Given the description of an element on the screen output the (x, y) to click on. 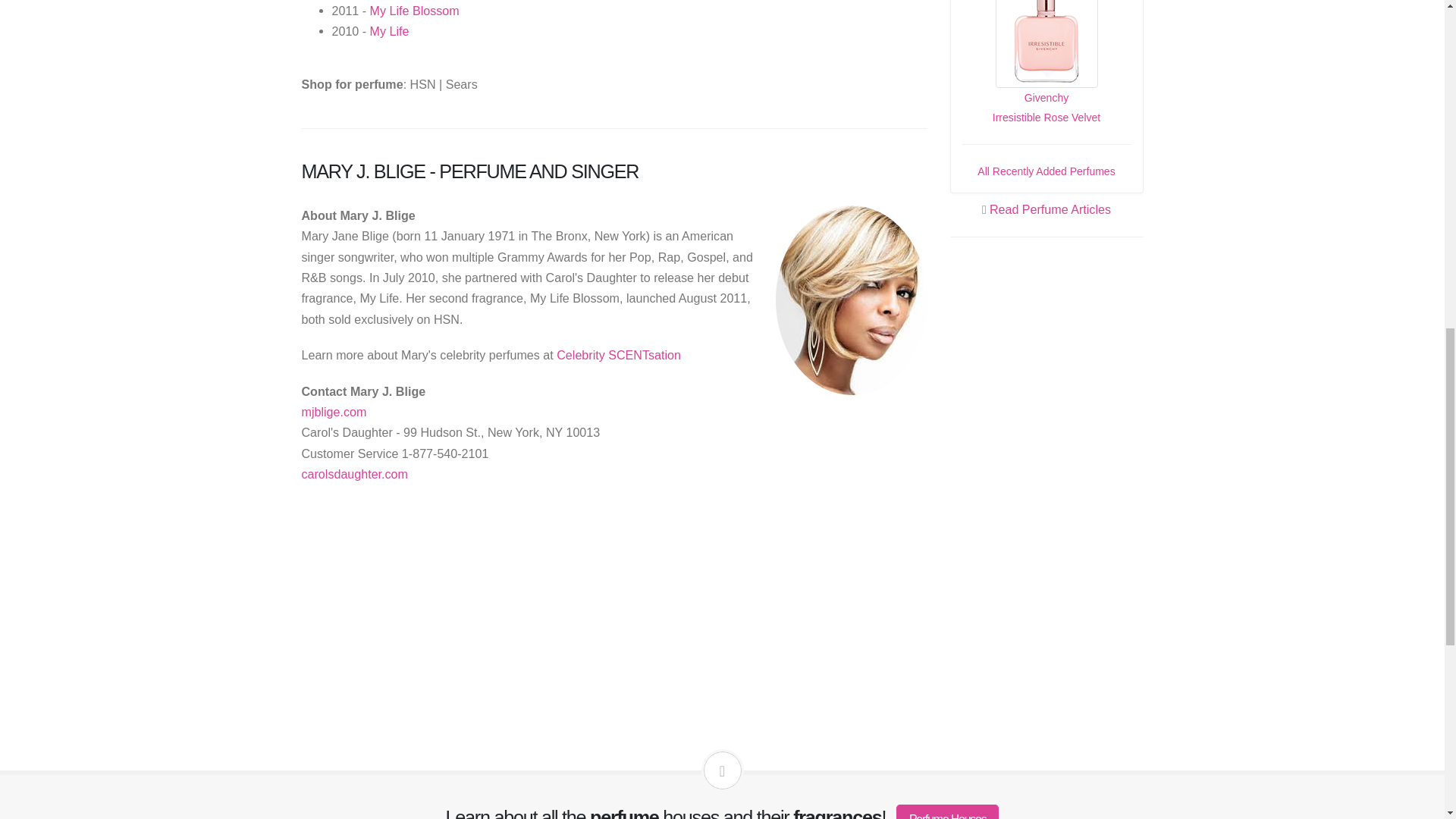
My Life (389, 30)
Celebrity SCENTsation (618, 354)
My Life Blossom (414, 10)
mjblige.com (333, 411)
carolsdaughter.com (354, 473)
